Given the description of an element on the screen output the (x, y) to click on. 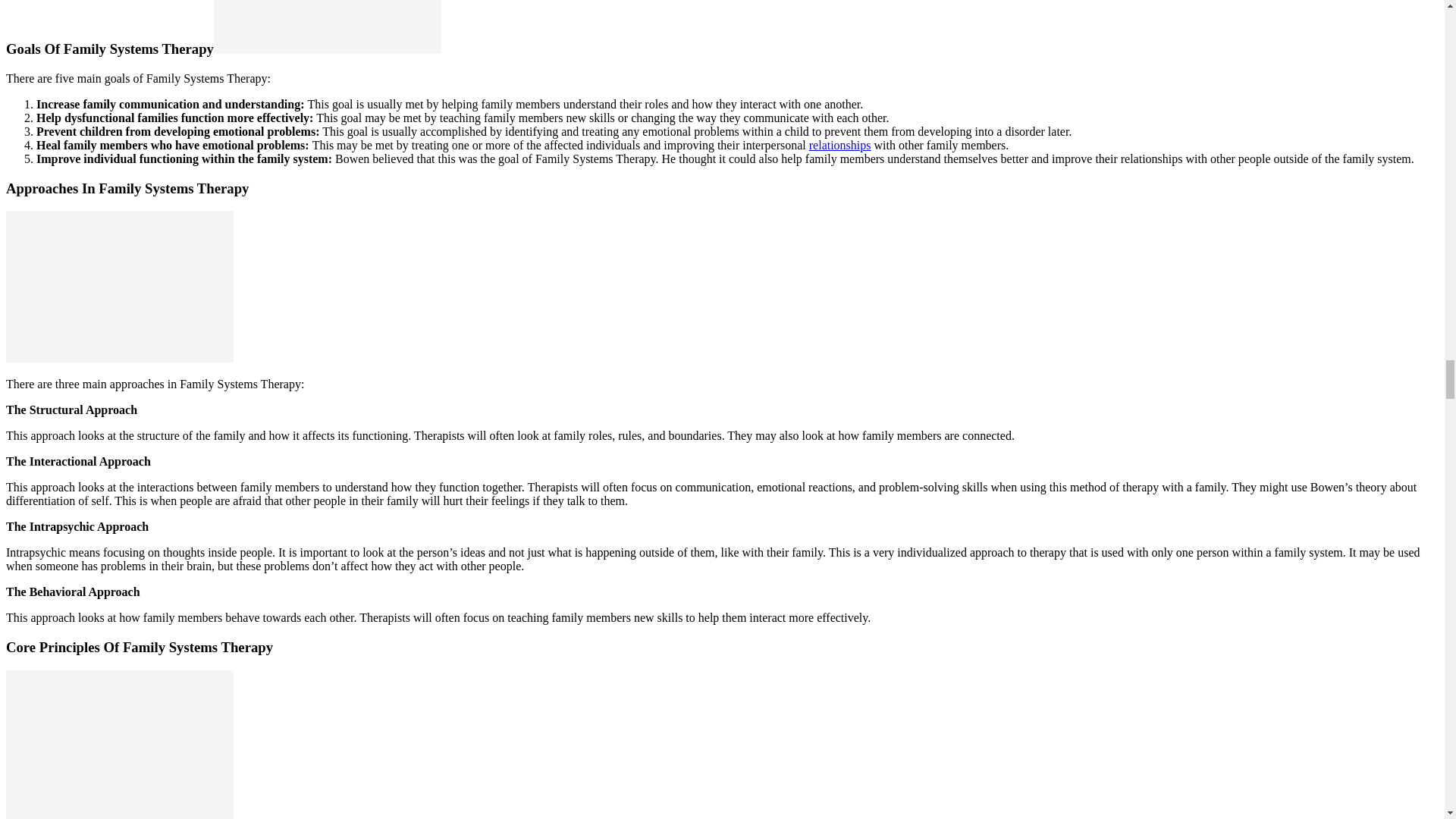
relationships (839, 144)
